Given the description of an element on the screen output the (x, y) to click on. 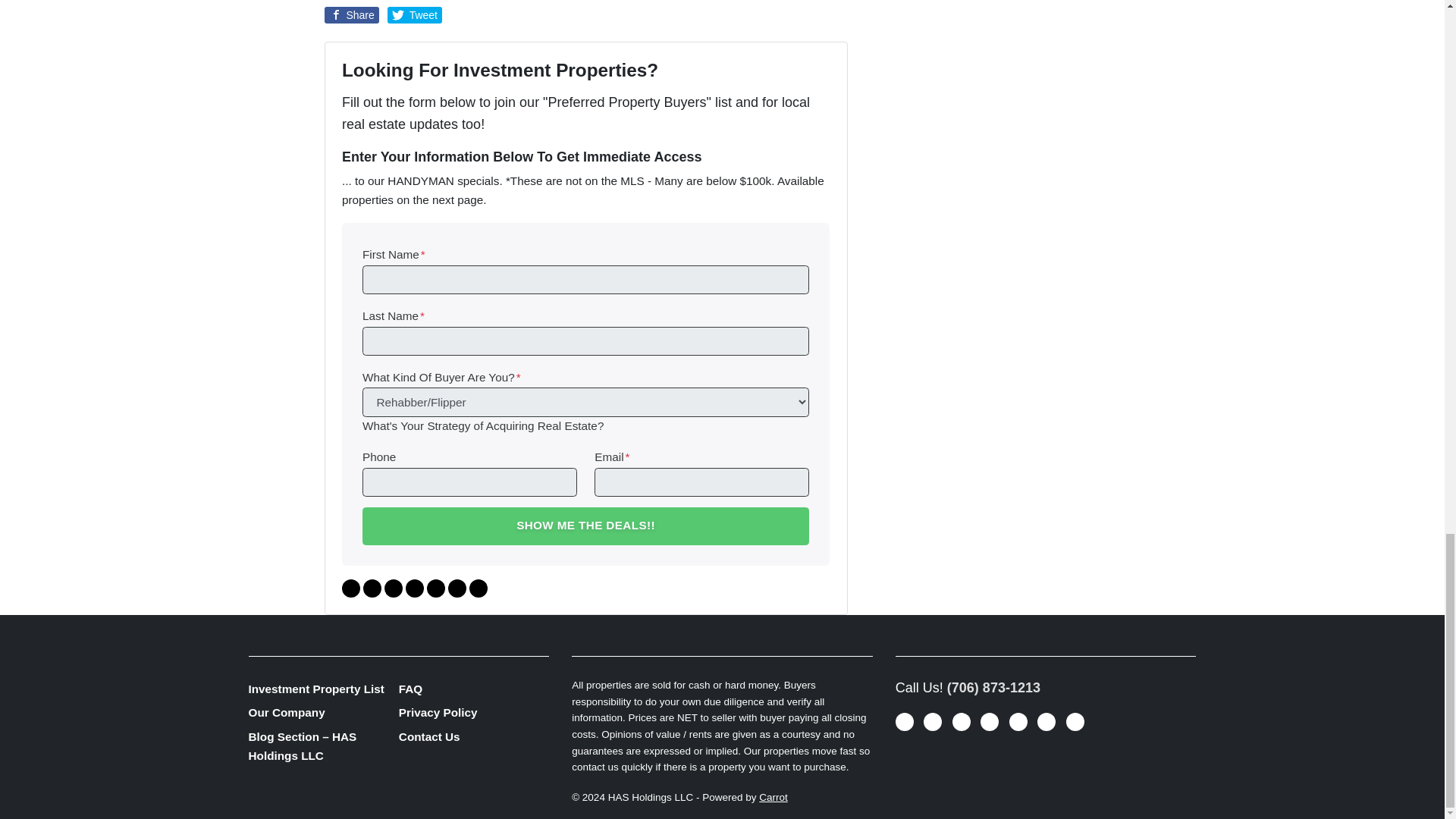
Share on Twitter (414, 14)
Share on Facebook (351, 14)
Show Me The Deals!!  (585, 525)
